Given the description of an element on the screen output the (x, y) to click on. 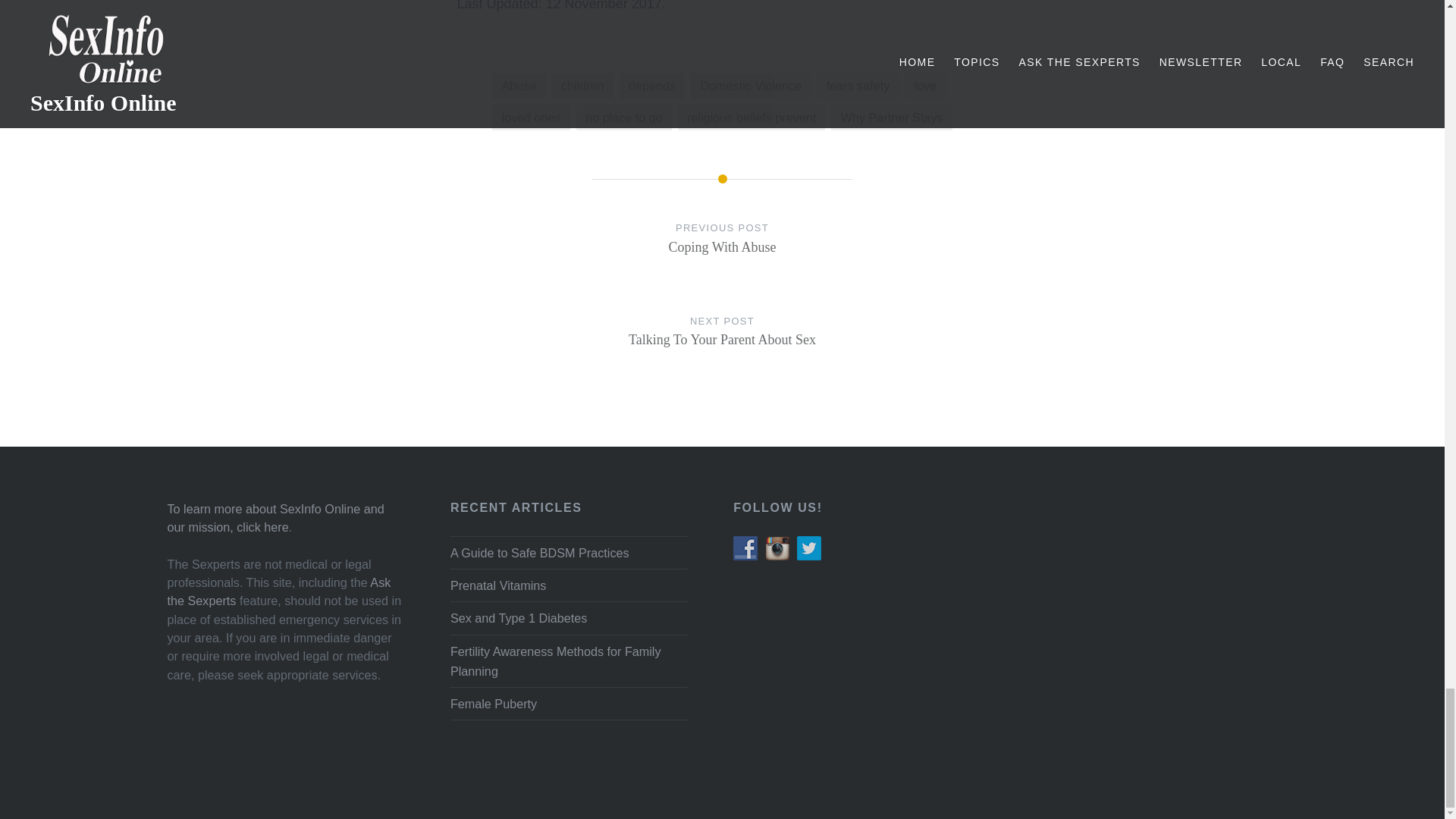
Domestic Violence (750, 85)
Follow Us on Facebook (745, 548)
Abuse (518, 85)
fears safety (857, 85)
Follow Us on Instagram (777, 548)
Follow Us on Twitter (808, 548)
depends (652, 85)
children (581, 85)
